Given the description of an element on the screen output the (x, y) to click on. 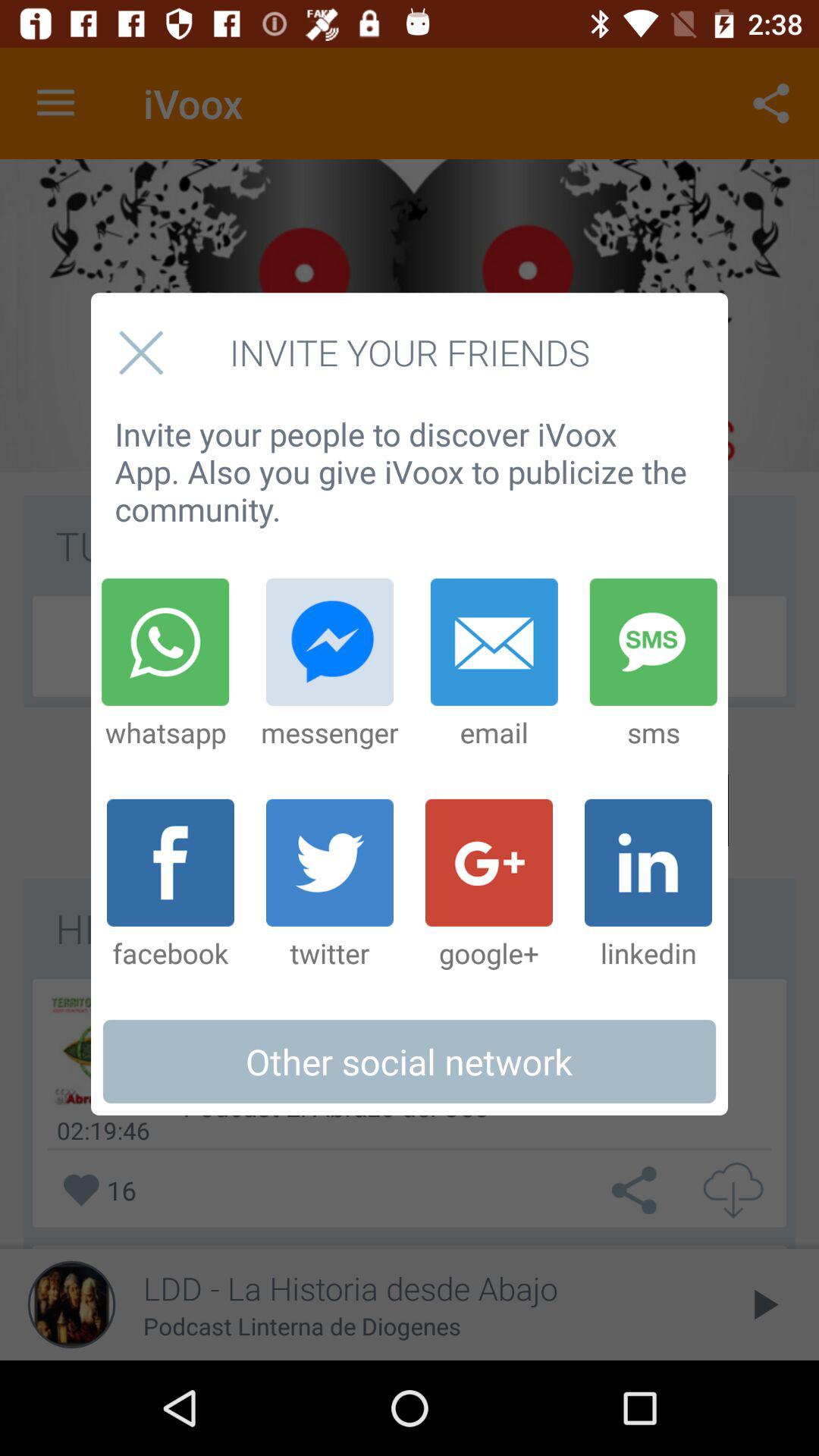
click twitter (329, 885)
